Given the description of an element on the screen output the (x, y) to click on. 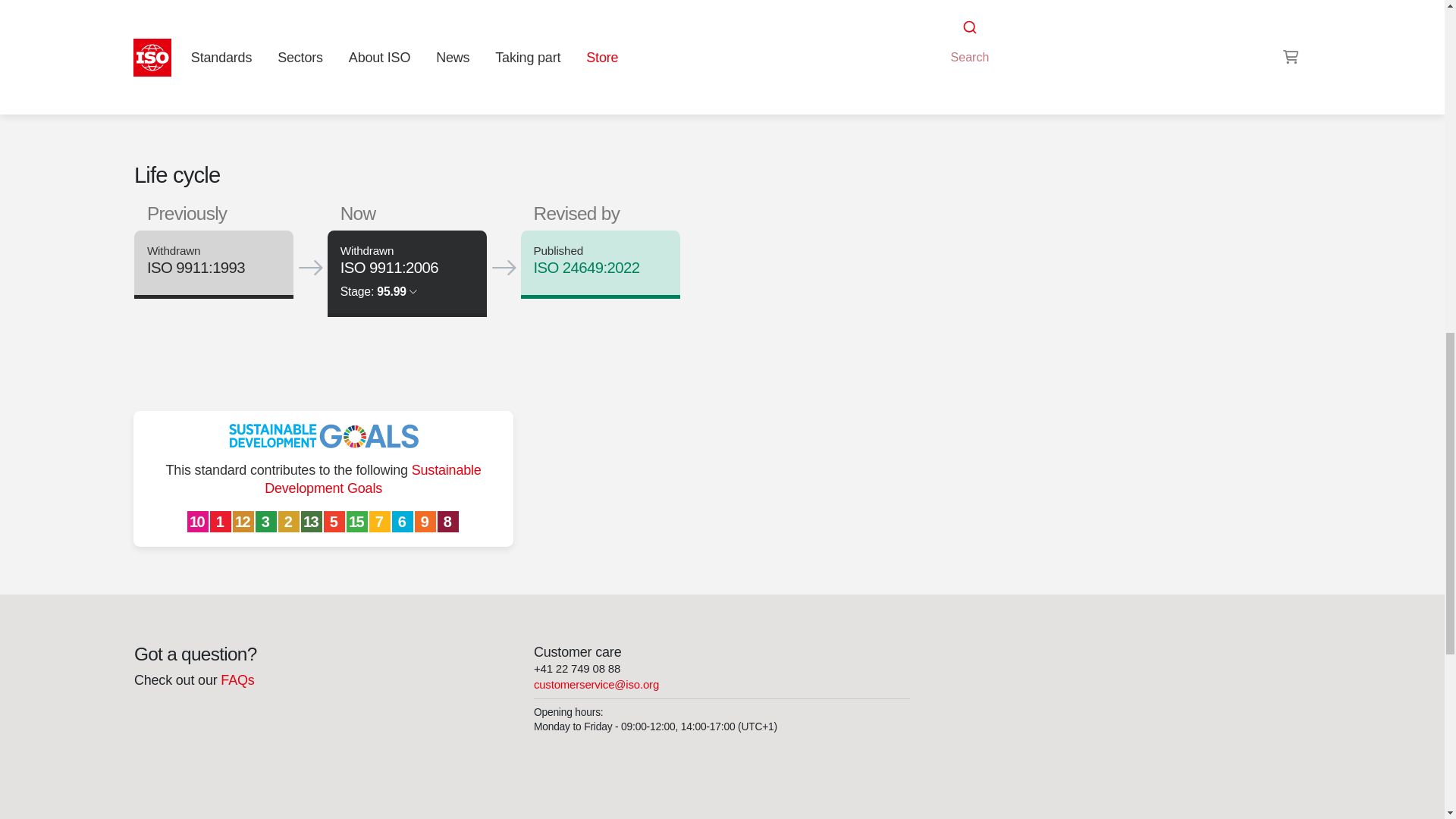
Reduced Inequalities (198, 522)
No Poverty (220, 522)
65.060.35 (997, 8)
ISO 9911:1993 (195, 268)
Stage: 95.99 (377, 291)
RSS (956, 38)
Irrigation and drainage equipment (997, 8)
